Given the description of an element on the screen output the (x, y) to click on. 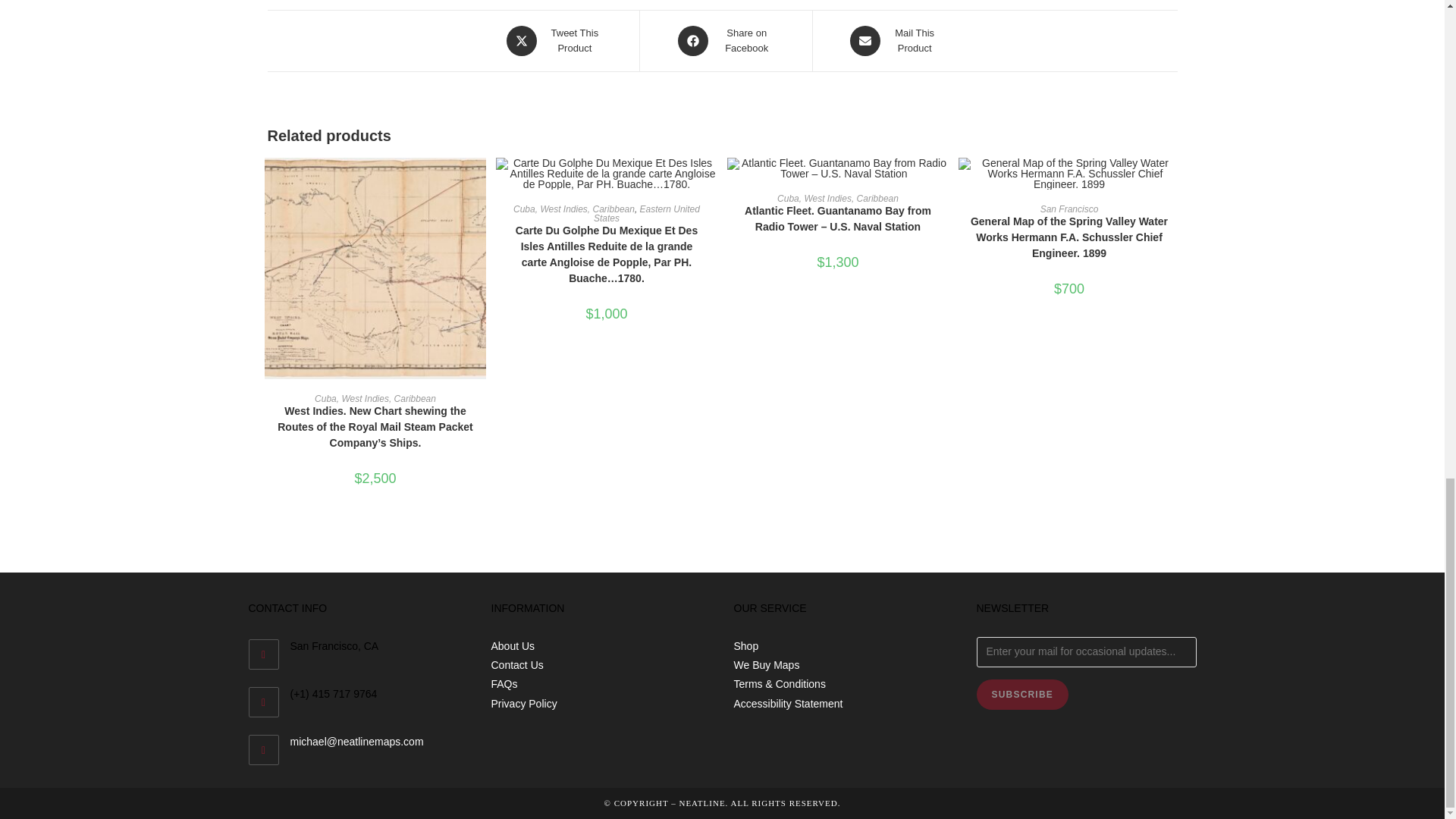
Cuba, West Indies, Caribbean (374, 398)
Subscribe (1022, 694)
Cuba, West Indies, Caribbean (554, 40)
